Given the description of an element on the screen output the (x, y) to click on. 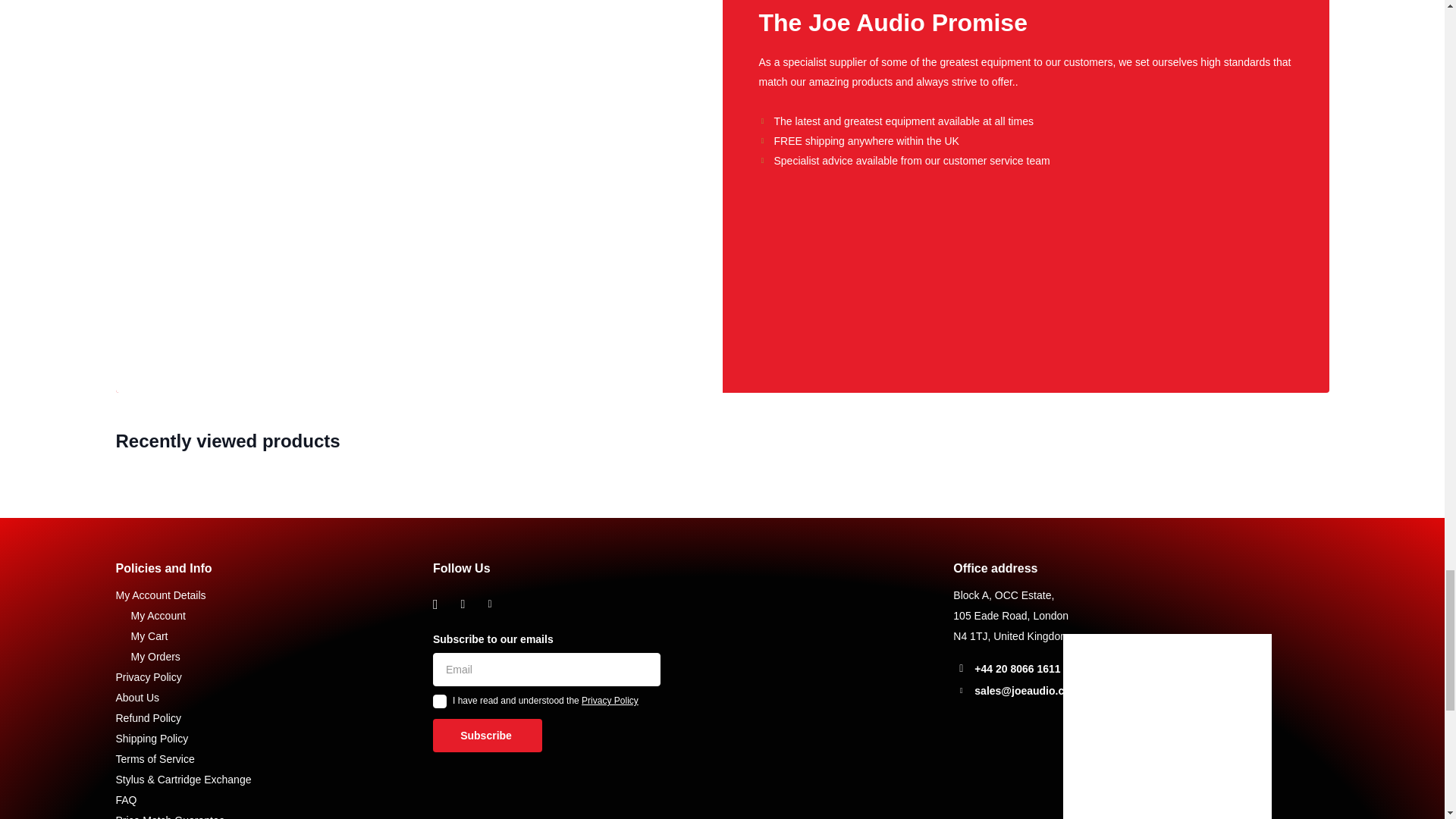
Terms of Service (154, 758)
About Us (136, 697)
Privacy Policy (147, 676)
My Account Details (160, 594)
My Cart (149, 635)
Price Match Guarantee (169, 816)
Refund Policy (147, 717)
FAQ (125, 799)
Privacy Policy (609, 700)
Shipping Policy (151, 738)
